Given the description of an element on the screen output the (x, y) to click on. 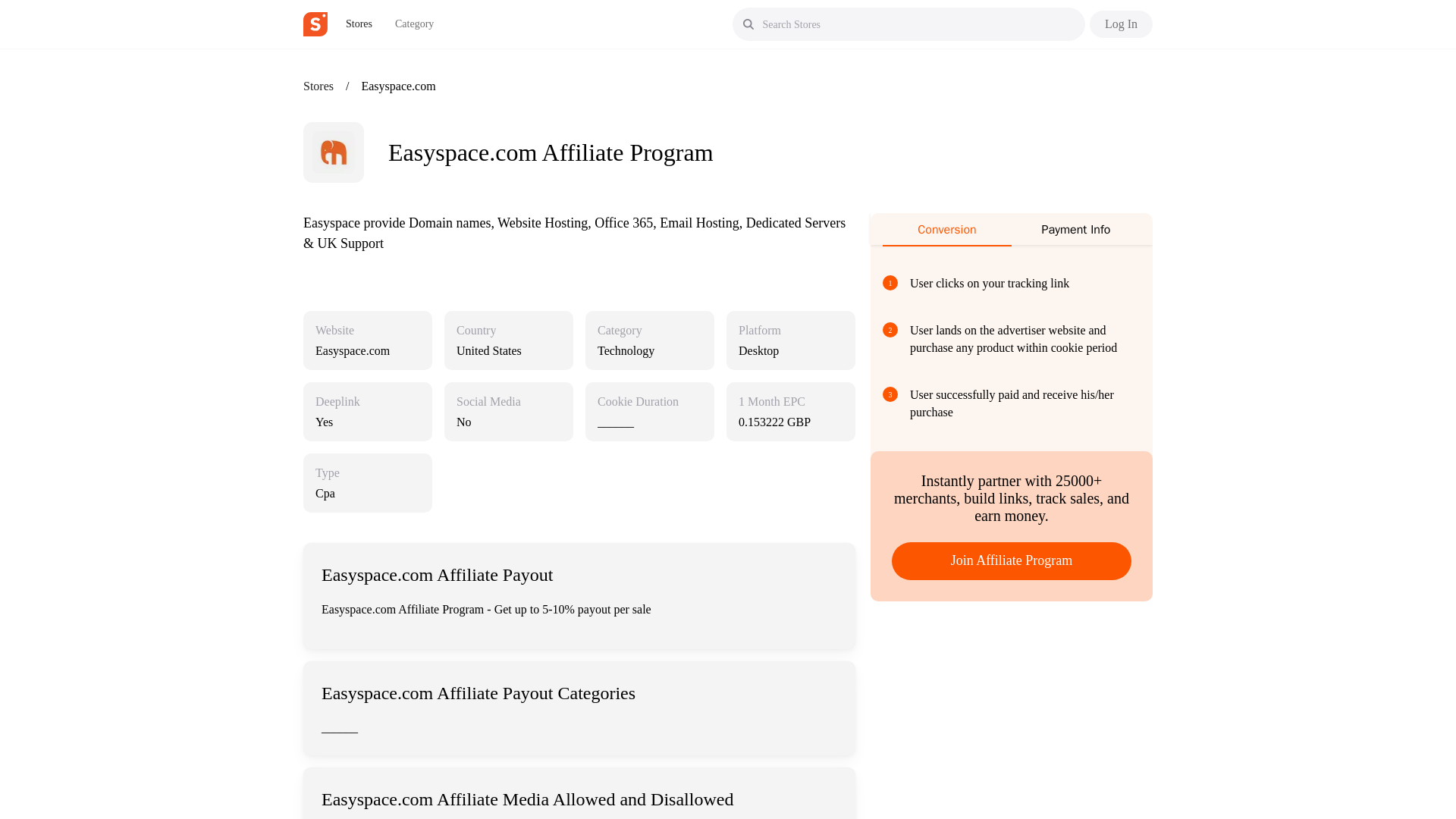
Category (413, 24)
Stores (317, 85)
Easyspace.com (367, 350)
Technology (648, 350)
Stores (359, 24)
Category (619, 330)
desktop (790, 350)
Join Affiliate Program (1011, 560)
Social Media (489, 401)
Type (327, 473)
